Given the description of an element on the screen output the (x, y) to click on. 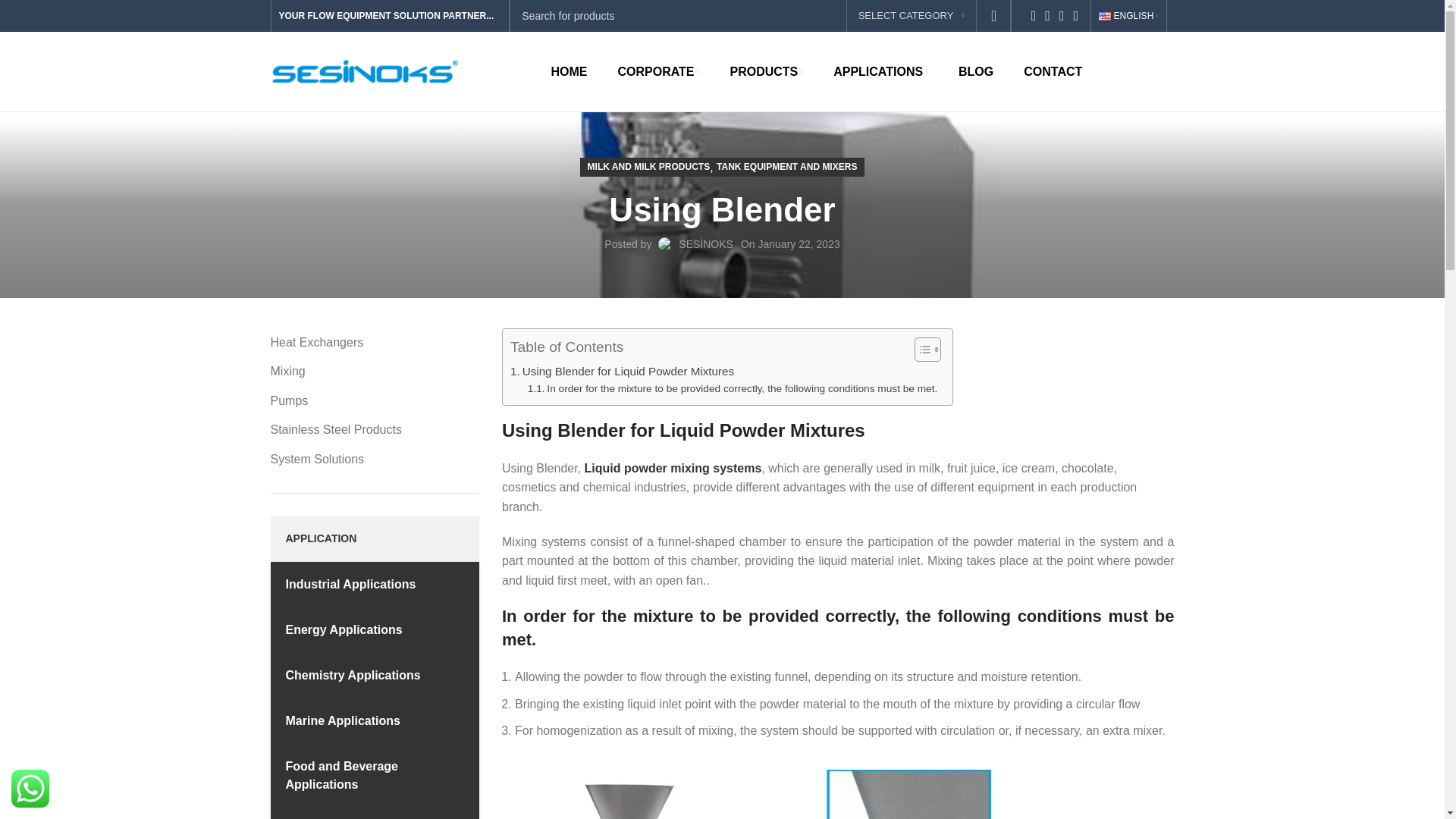
Using Blender 1 (643, 794)
Search for products (759, 16)
SELECT CATEGORY (910, 15)
SEARCH (993, 16)
ENGLISH (1128, 15)
SELECT CATEGORY (910, 15)
Using Blender 2 (908, 794)
Using Blender for Liquid Powder Mixtures (622, 371)
